Given the description of an element on the screen output the (x, y) to click on. 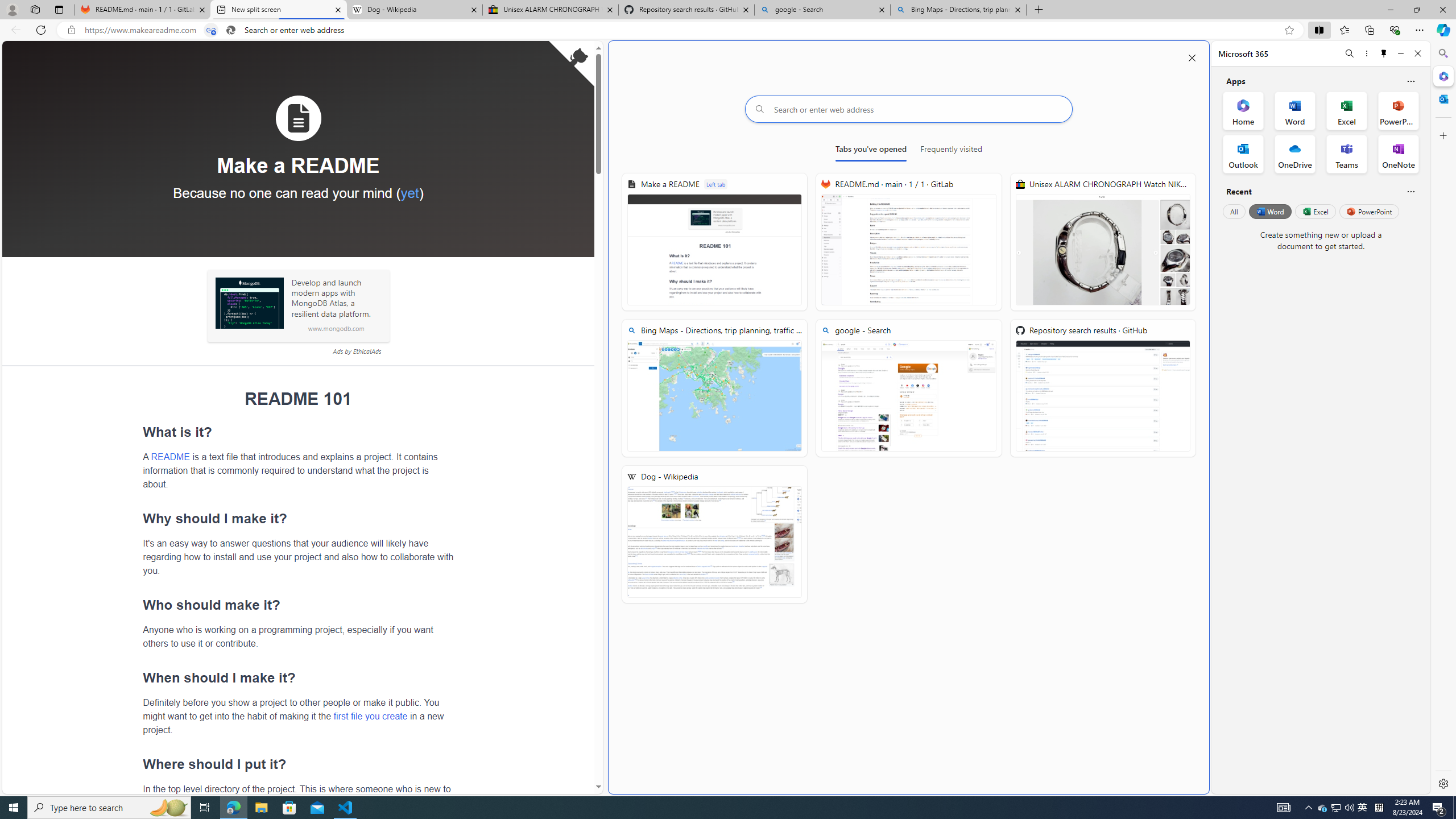
OneDrive Office App (1295, 154)
OneNote Office App (1398, 154)
Ads by EthicalAds (357, 351)
Open GitHub project (571, 63)
